Given the description of an element on the screen output the (x, y) to click on. 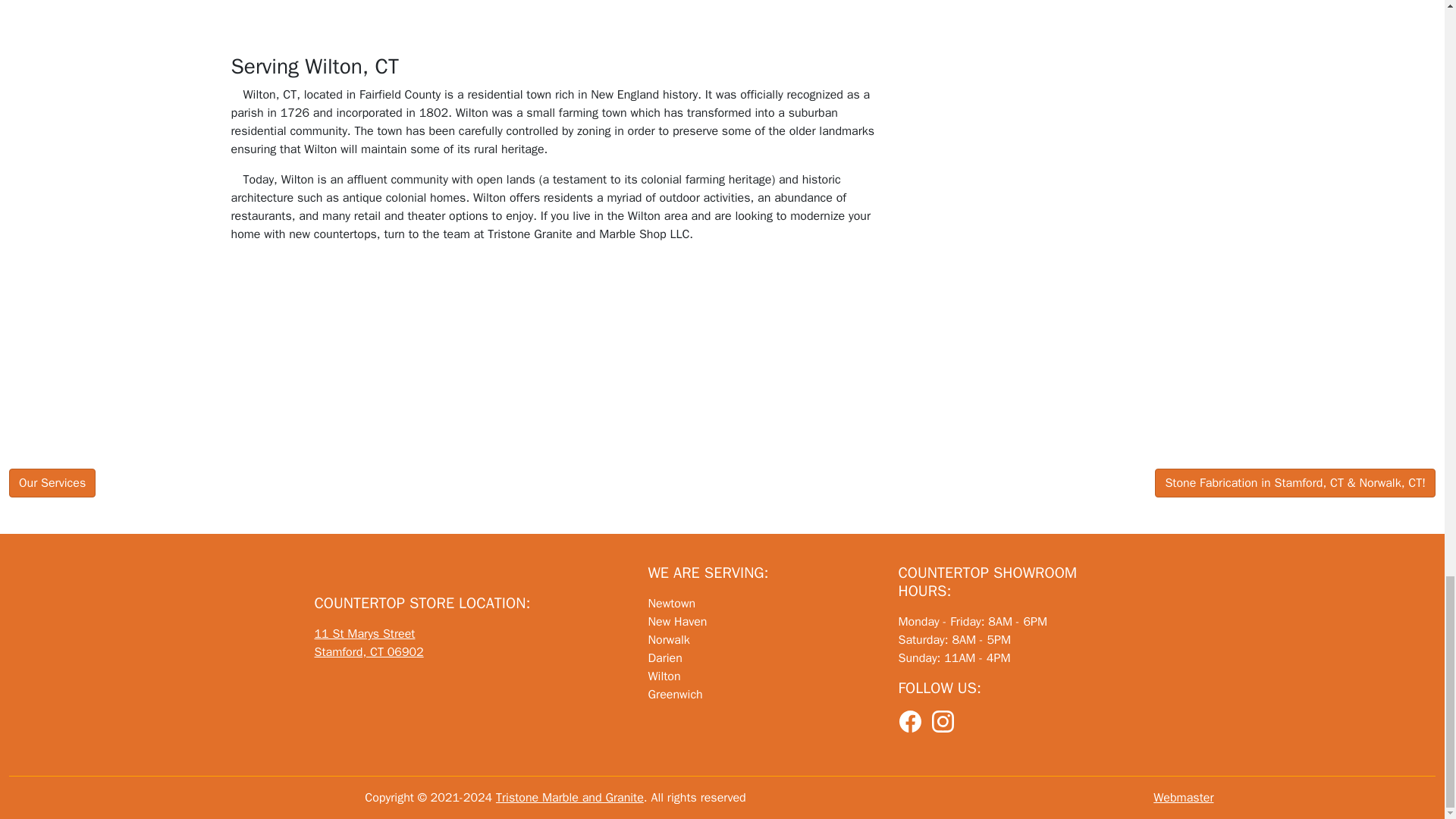
Tristone Marble and Granite on Instagram (943, 721)
Tristone Marble and Granite on Facebook (909, 721)
